Given the description of an element on the screen output the (x, y) to click on. 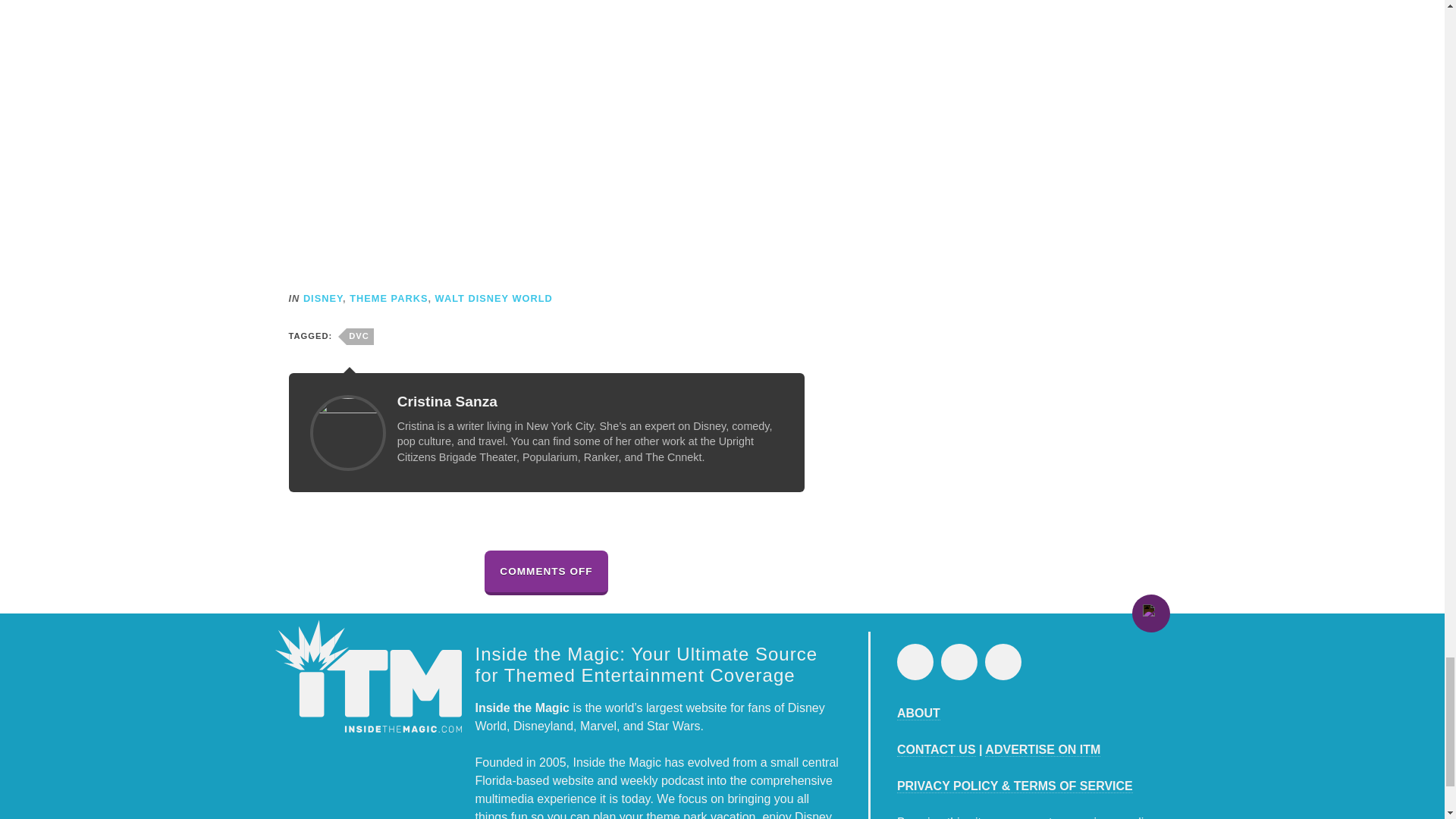
Return to Top (1150, 613)
